Given the description of an element on the screen output the (x, y) to click on. 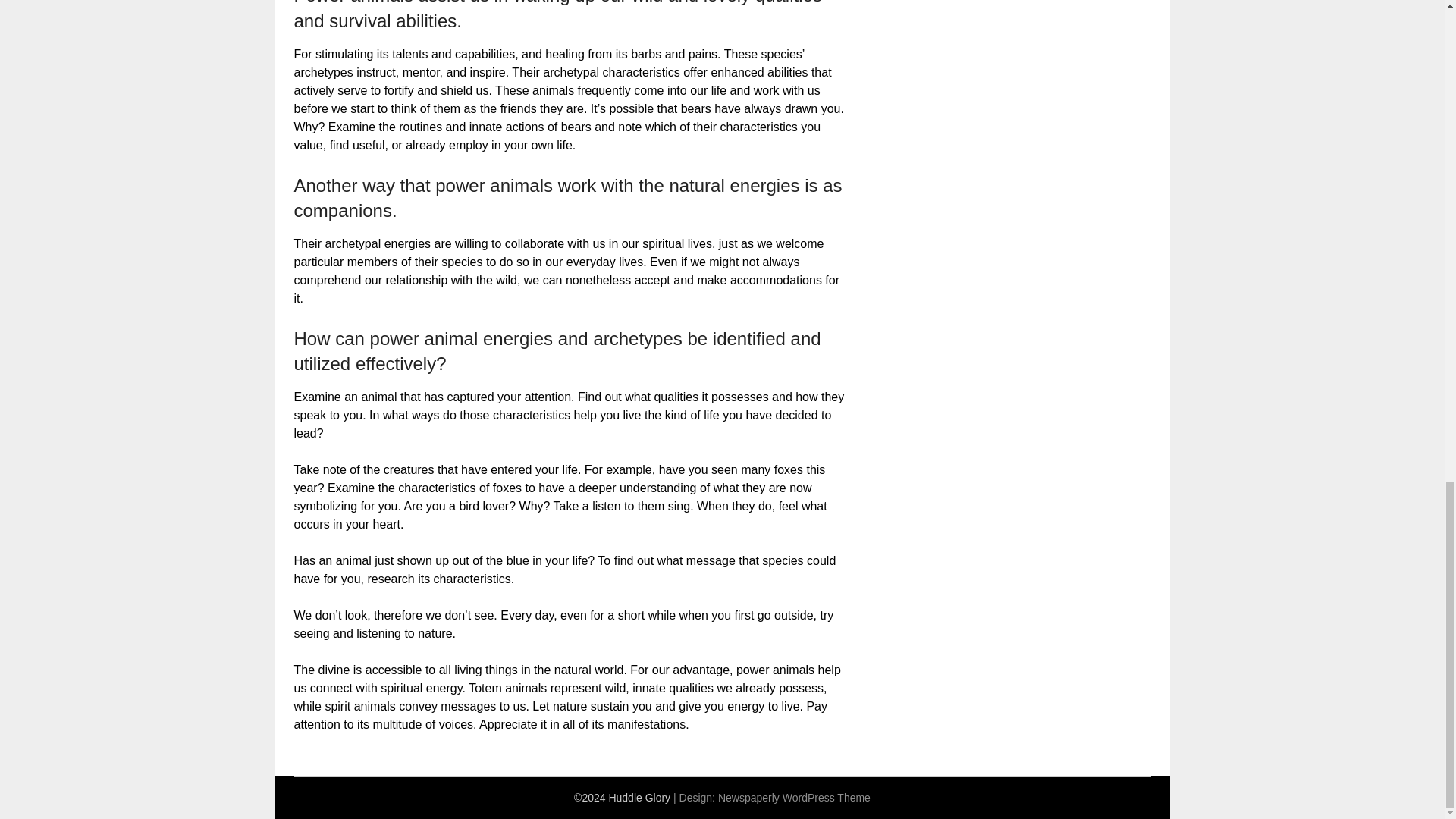
Newspaperly WordPress Theme (793, 797)
